Given the description of an element on the screen output the (x, y) to click on. 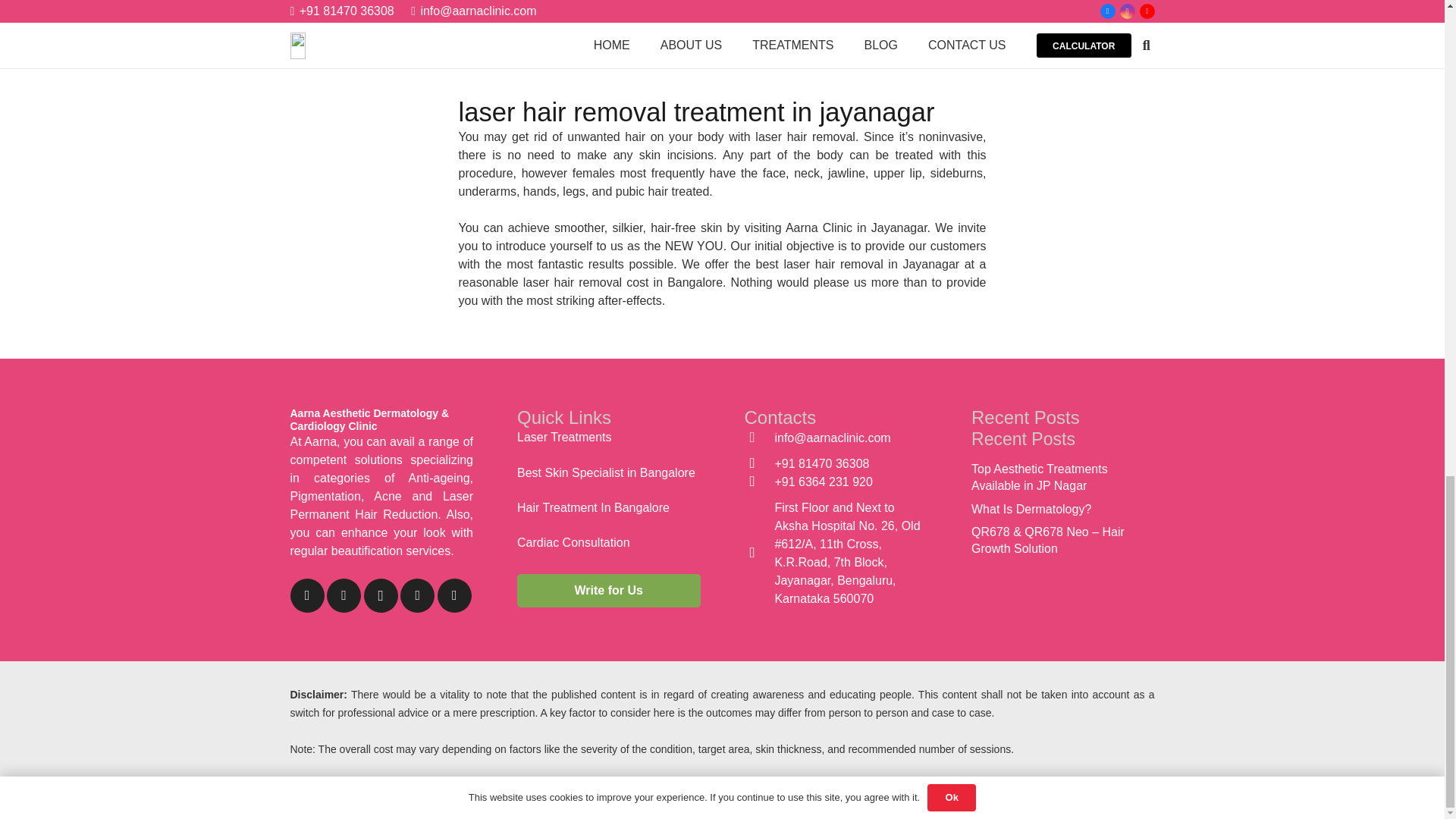
YouTube (343, 595)
Facebook (306, 595)
